Given the description of an element on the screen output the (x, y) to click on. 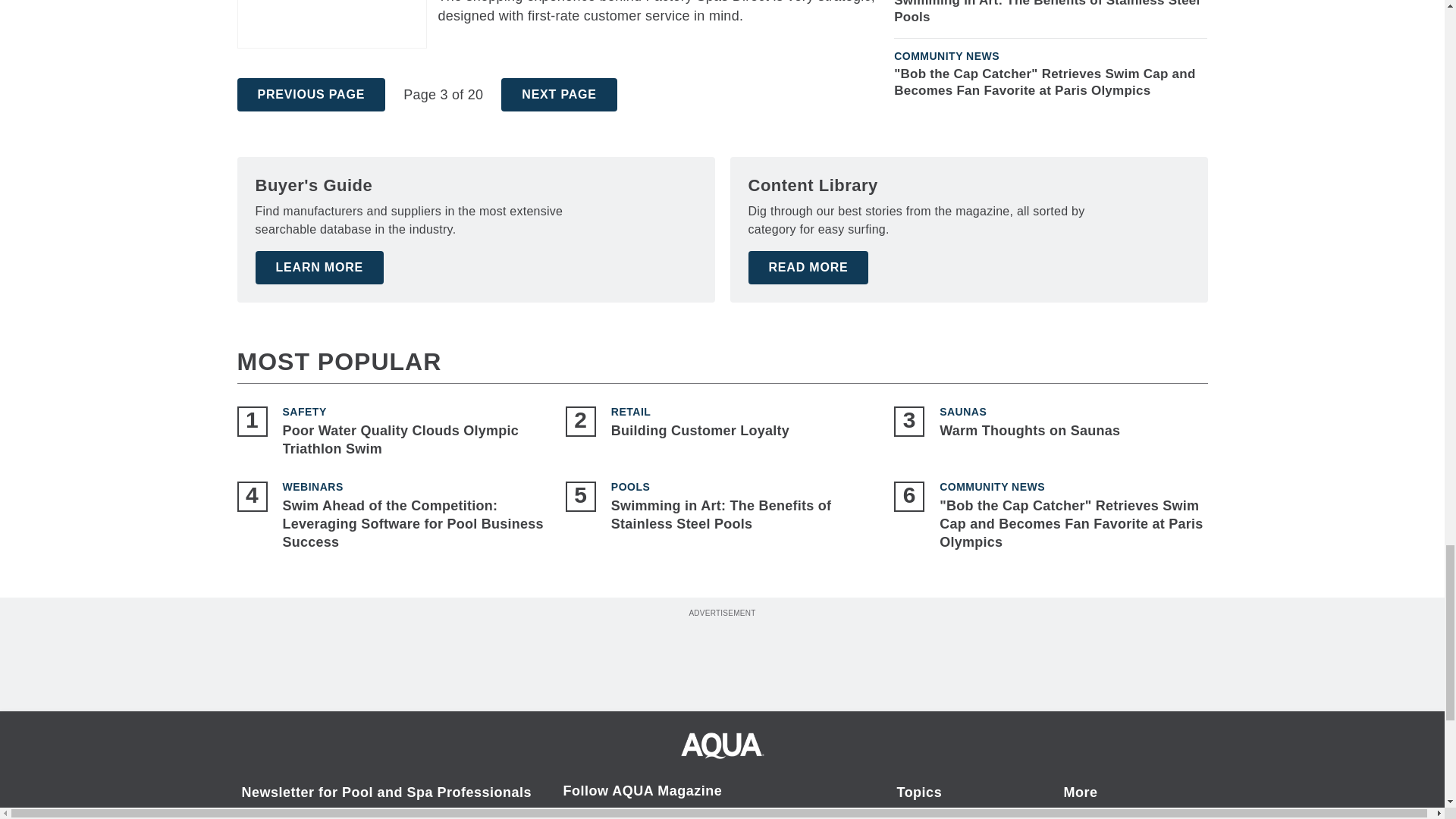
Instagram icon (615, 815)
Twitter X icon (694, 815)
Pinterest icon (655, 815)
LinkedIn icon (737, 815)
Facebook icon (575, 815)
